Given the description of an element on the screen output the (x, y) to click on. 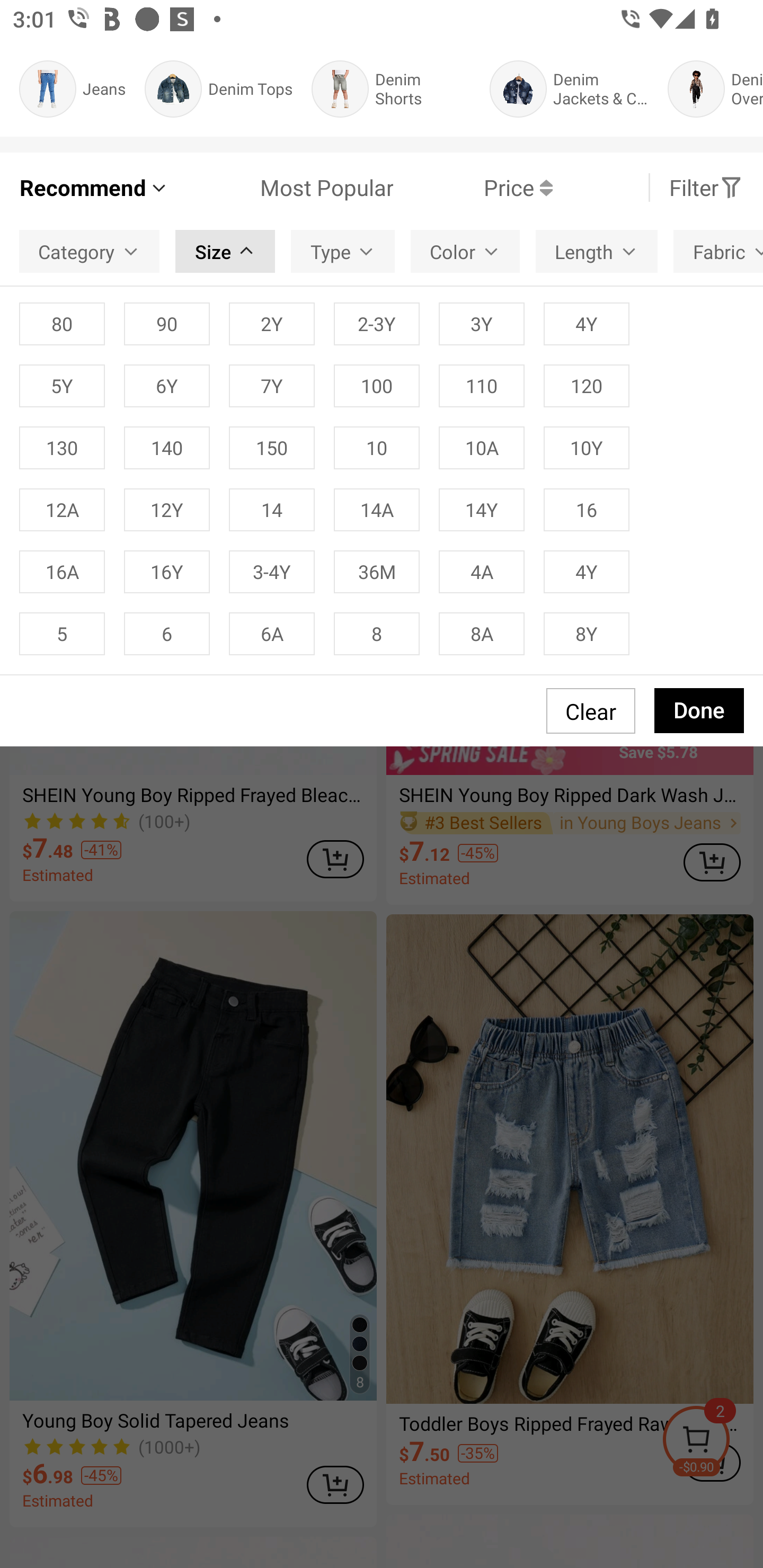
Jeans (72, 89)
Denim Tops (218, 89)
Denim Shorts (390, 89)
Denim Jackets & Coats (568, 89)
Denim Overalls & Jumpsuits (715, 89)
Recommend (94, 187)
Most Popular (280, 187)
Price (472, 187)
Filter (705, 187)
Category (89, 251)
Size (224, 251)
Type (342, 251)
Color (464, 251)
Length (596, 251)
Fabric (718, 251)
